Given the description of an element on the screen output the (x, y) to click on. 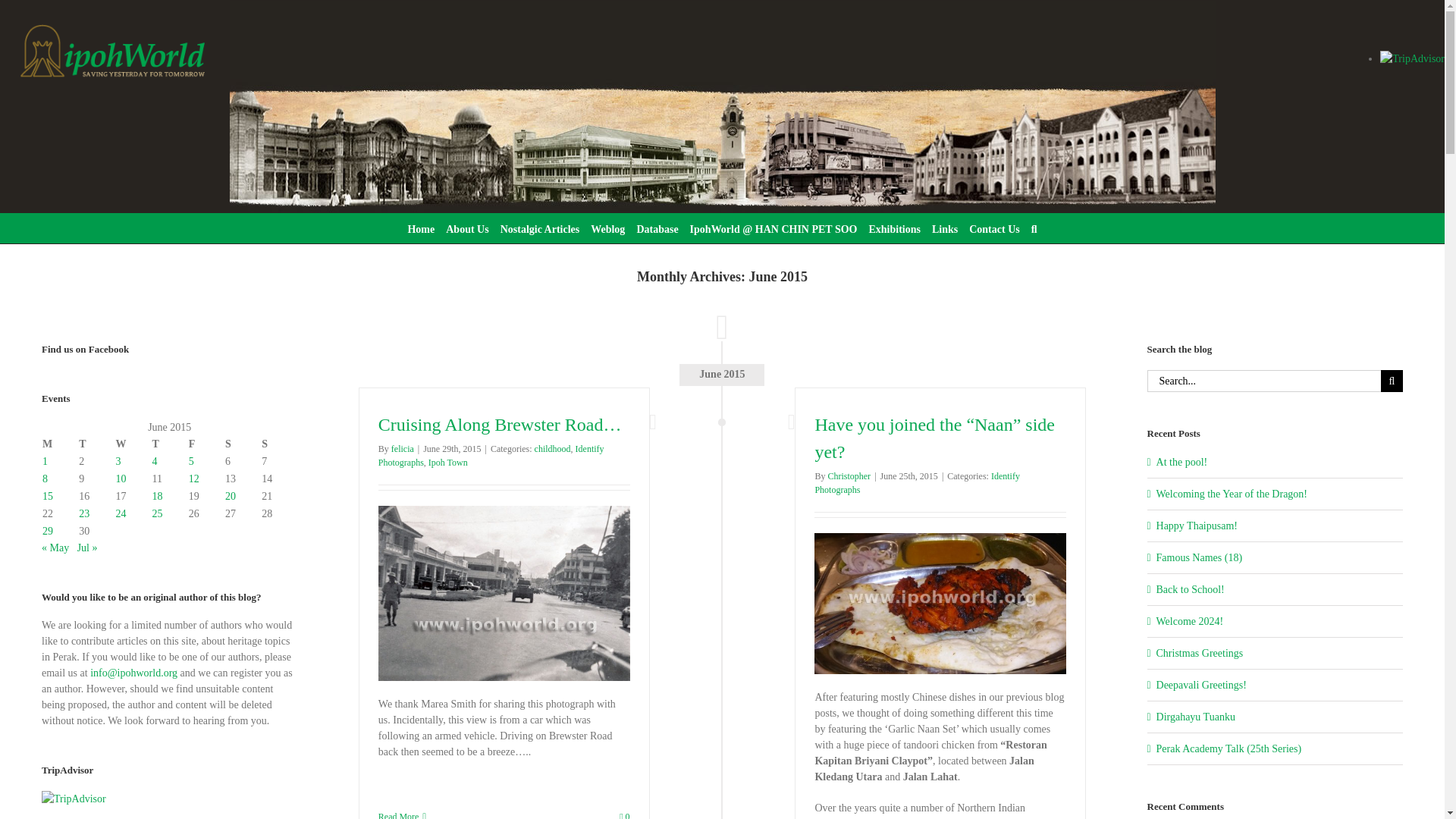
Ipoh Town (447, 462)
Database (657, 227)
Identify Photographs (491, 455)
Nostalgic Articles (539, 227)
childhood (552, 448)
Home (420, 227)
Posts by Christopher (848, 475)
Read More (398, 814)
Posts by felicia (402, 448)
Weblog (607, 227)
